Given the description of an element on the screen output the (x, y) to click on. 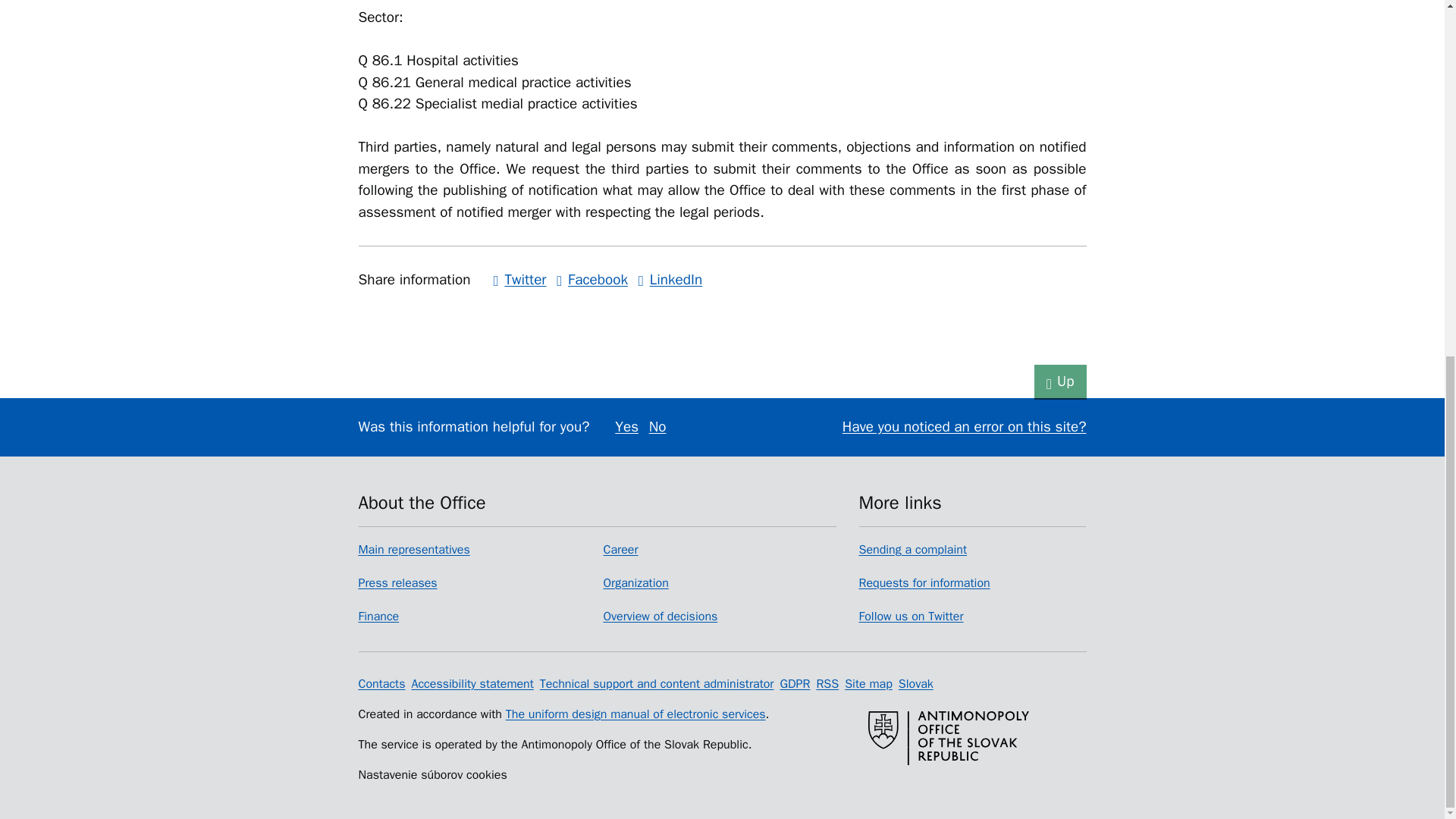
Share this page on Twitter (519, 280)
Share this page on Facebook (591, 280)
Share this page on LinkedIn (670, 280)
The uniform design manual of electronic services (635, 713)
